Given the description of an element on the screen output the (x, y) to click on. 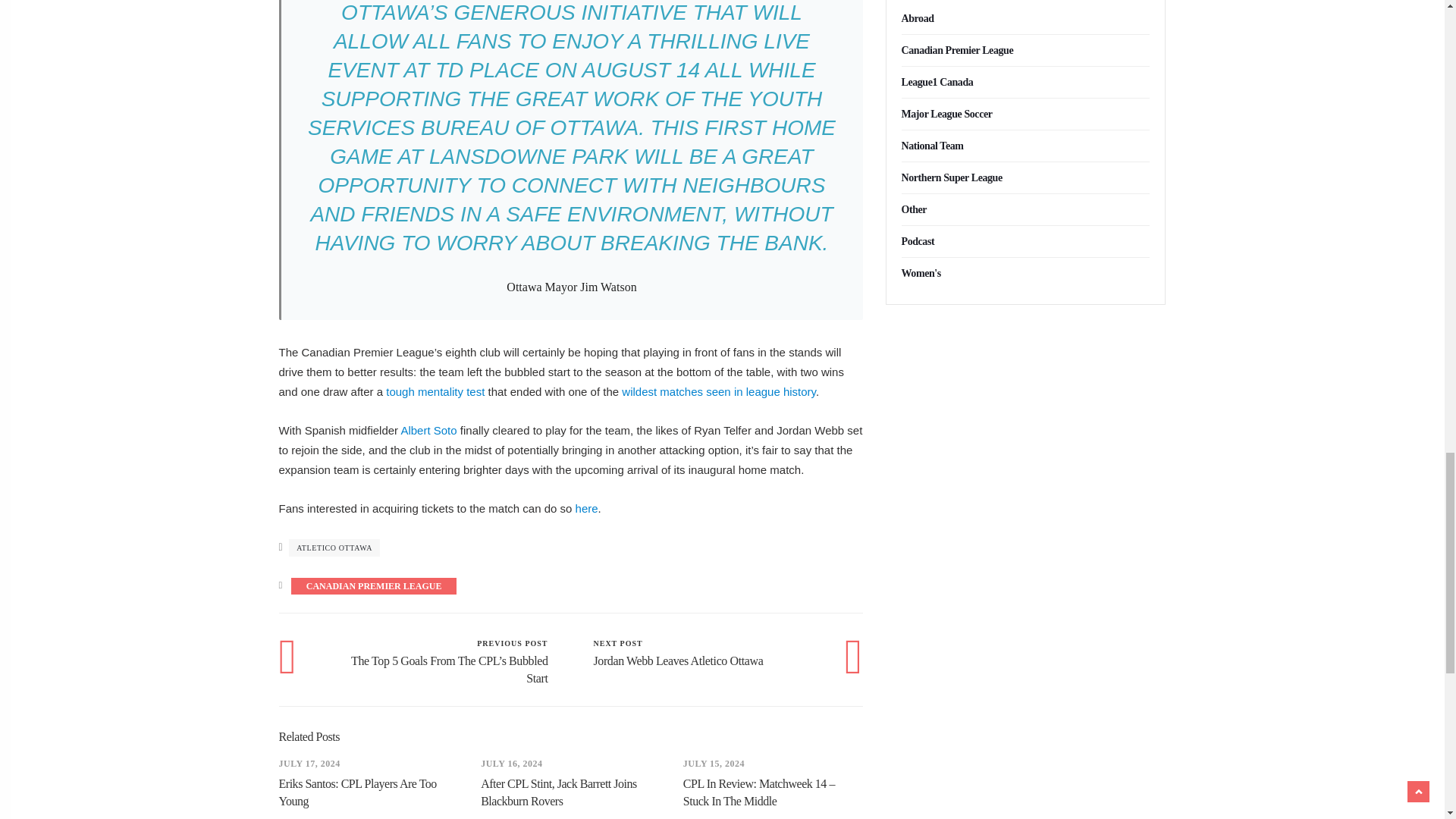
Albert Soto (428, 430)
Eriks Santos: CPL Players Are Too Young (357, 792)
ATLETICO OTTAWA (334, 547)
here (694, 652)
tough mentality test (586, 508)
wildest matches seen in league history (434, 391)
After CPL Stint, Jack Barrett Joins Blackburn Rovers (718, 391)
CANADIAN PREMIER LEAGUE (558, 792)
